Given the description of an element on the screen output the (x, y) to click on. 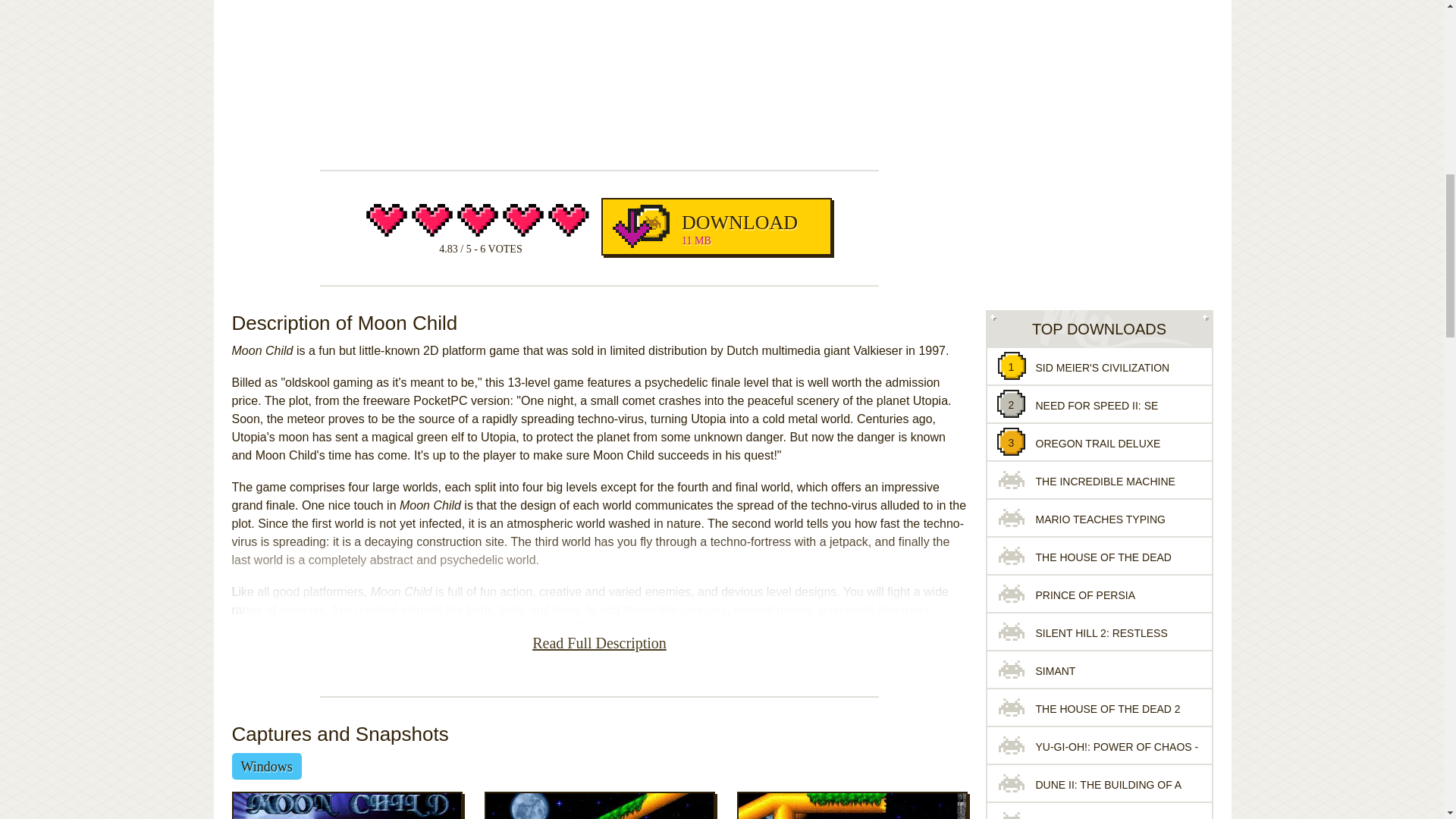
Read Full Description (599, 646)
Windows (716, 226)
